Given the description of an element on the screen output the (x, y) to click on. 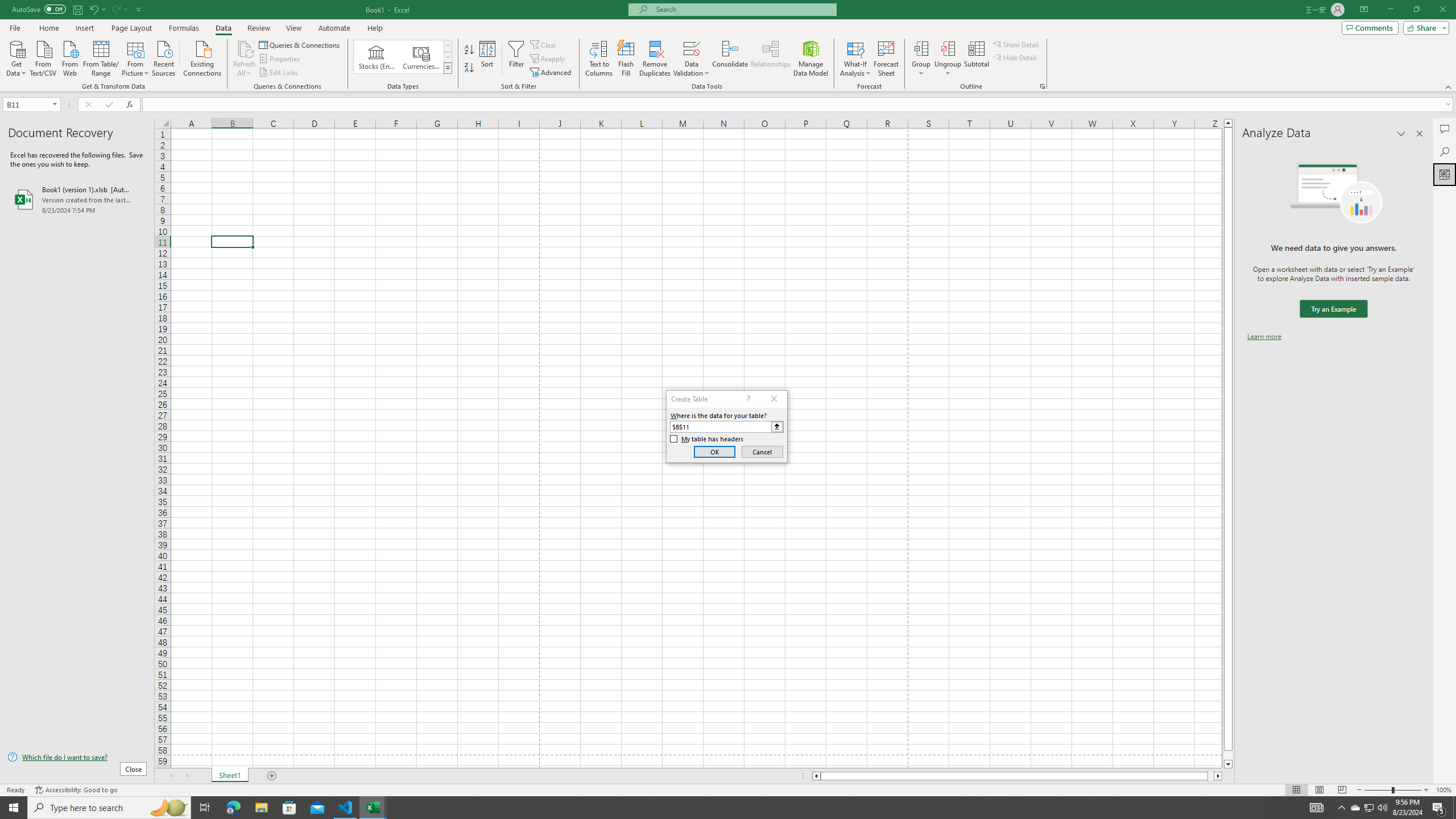
AutomationID: ConvertToLinkedEntity (403, 56)
Consolidate... (729, 58)
Remove Duplicates (654, 58)
Data Types (448, 67)
From Picture (135, 57)
From Web (69, 57)
Get Data (16, 57)
